Given the description of an element on the screen output the (x, y) to click on. 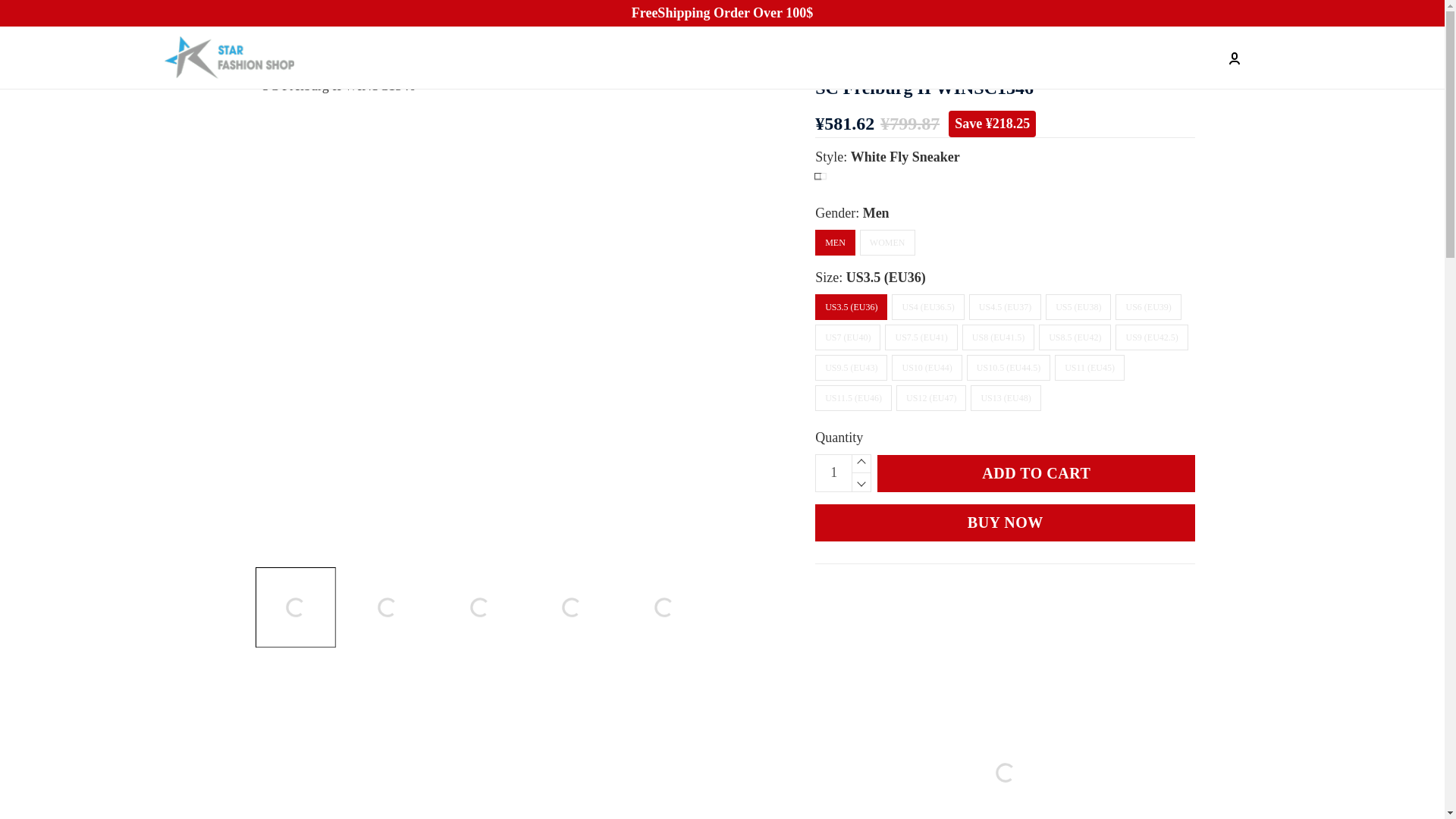
Home (259, 57)
ADD TO CART (1036, 473)
All (283, 57)
BUY NOW (1005, 522)
1 (833, 473)
MEN (835, 242)
WOMEN (887, 242)
